Given the description of an element on the screen output the (x, y) to click on. 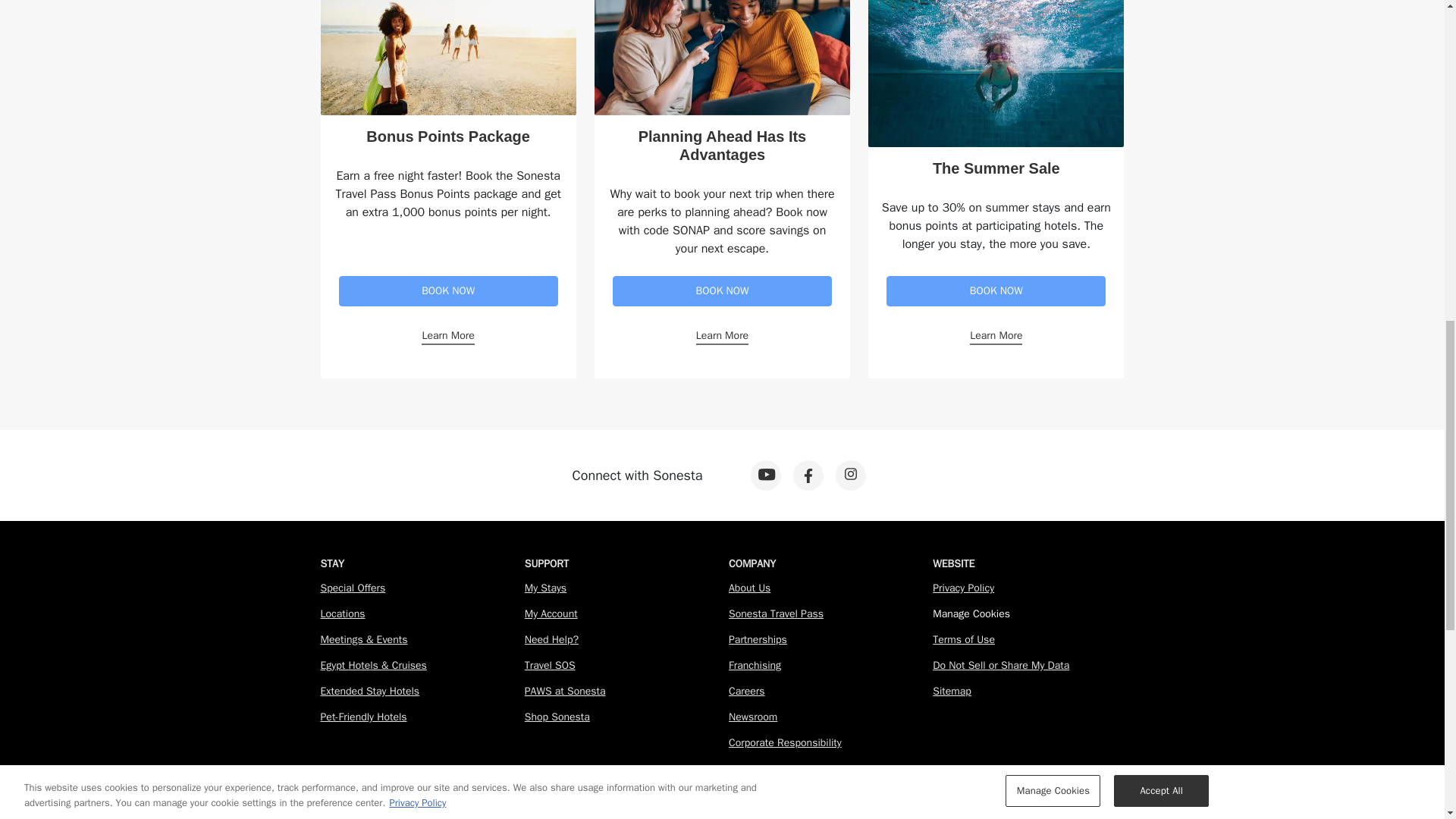
Pet-Friendly Hotels (363, 716)
Travel SOS (549, 665)
BOOK NOW (721, 291)
Need Help? (551, 639)
My Stays (545, 587)
PAWS at Sonesta (564, 690)
Special Offers (352, 587)
Extended Stay Hotels (369, 690)
BOOK NOW (995, 291)
Locations (342, 613)
Learn More (721, 335)
Shop Sonesta (556, 716)
My Account (551, 613)
Learn More (448, 335)
Learn More (995, 335)
